Given the description of an element on the screen output the (x, y) to click on. 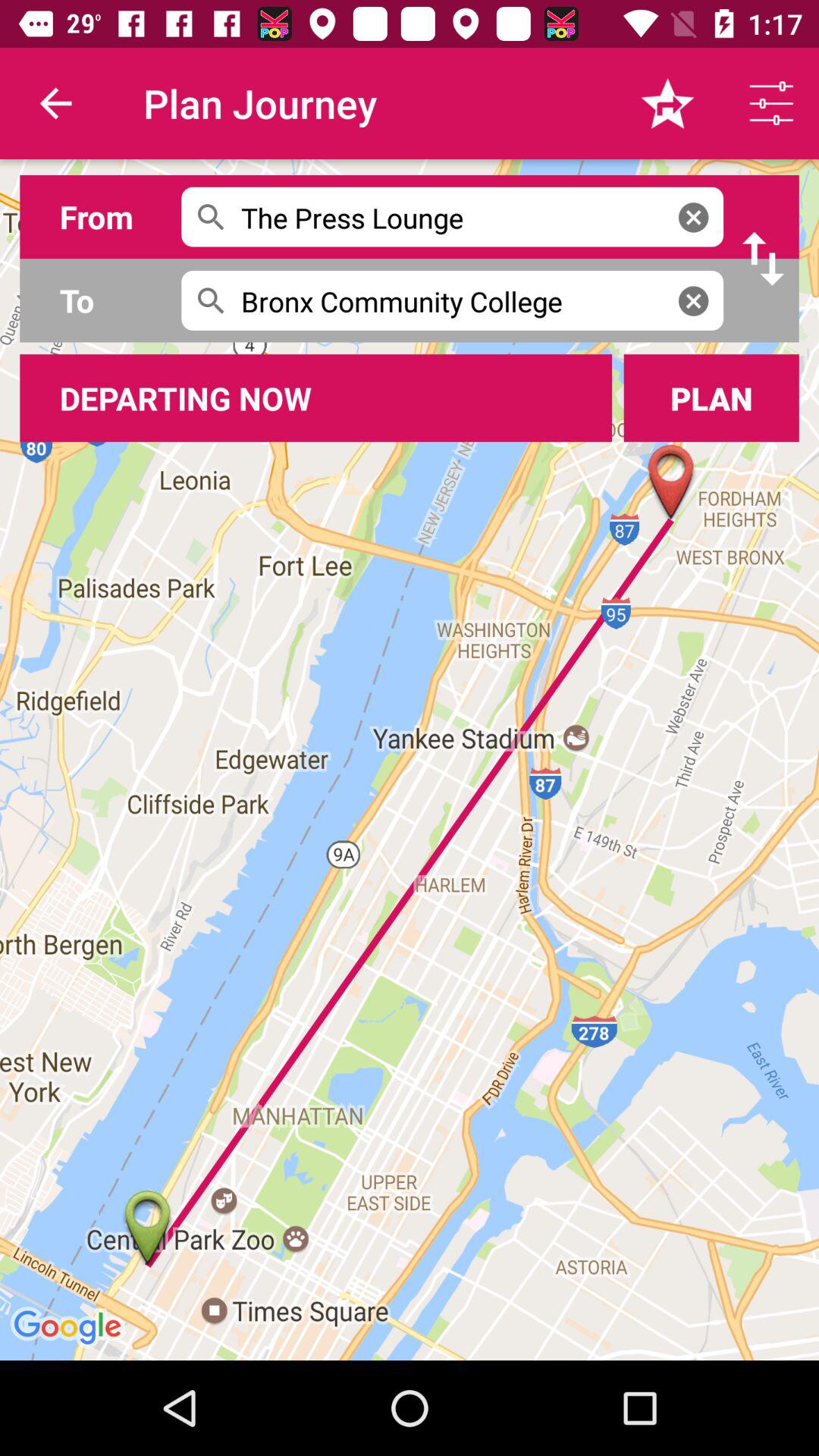
reverse order (763, 258)
